Given the description of an element on the screen output the (x, y) to click on. 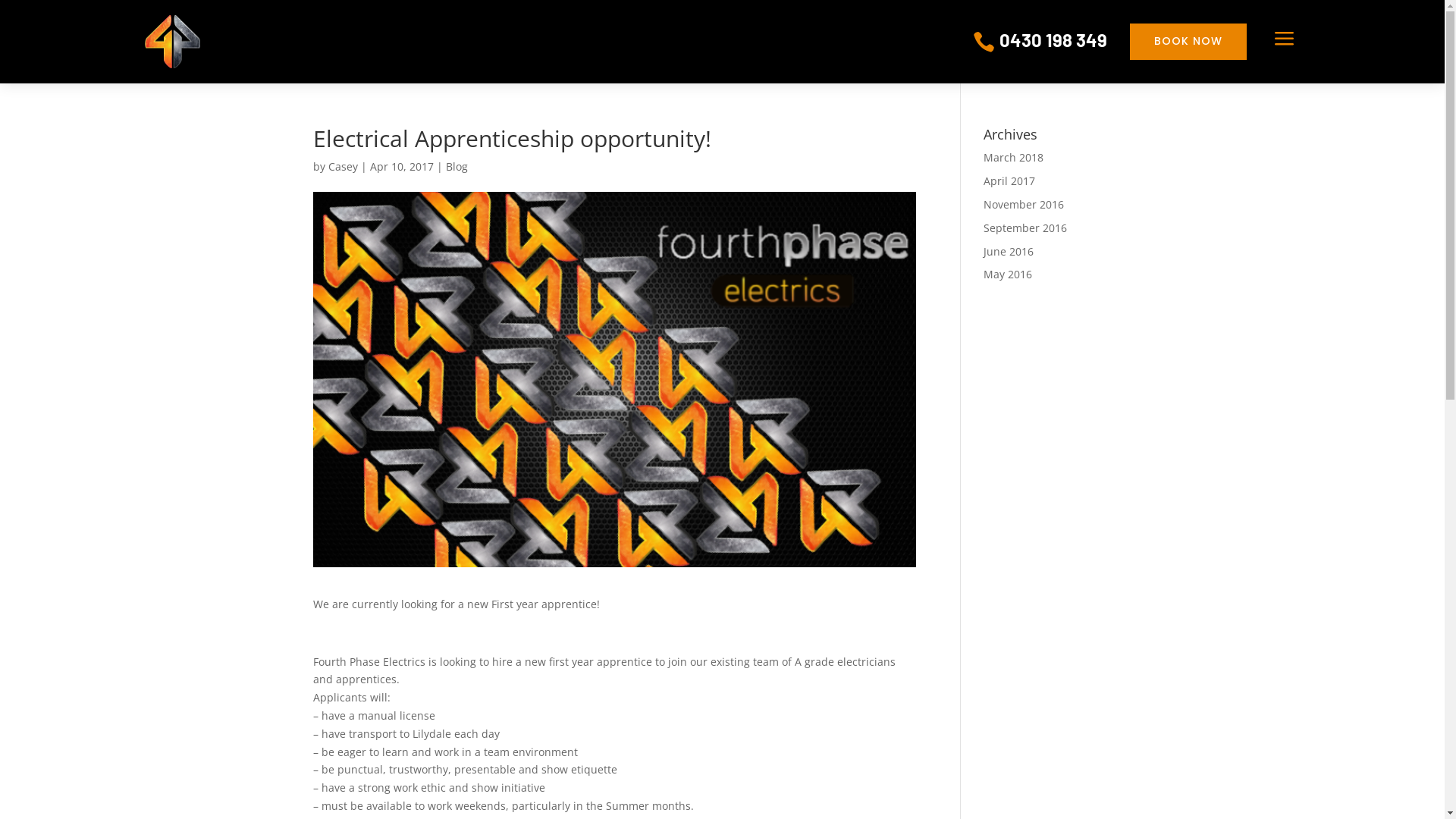
June 2016 Element type: text (1008, 251)
Casey Element type: text (342, 166)
April 2017 Element type: text (1009, 180)
Fourth-Phase-Icon Element type: hover (171, 41)
November 2016 Element type: text (1023, 204)
BOOK NOW Element type: text (1187, 41)
September 2016 Element type: text (1024, 227)
0430 198 349 Element type: text (1053, 39)
Blog Element type: text (456, 166)
May 2016 Element type: text (1007, 273)
March 2018 Element type: text (1013, 157)
